Given the description of an element on the screen output the (x, y) to click on. 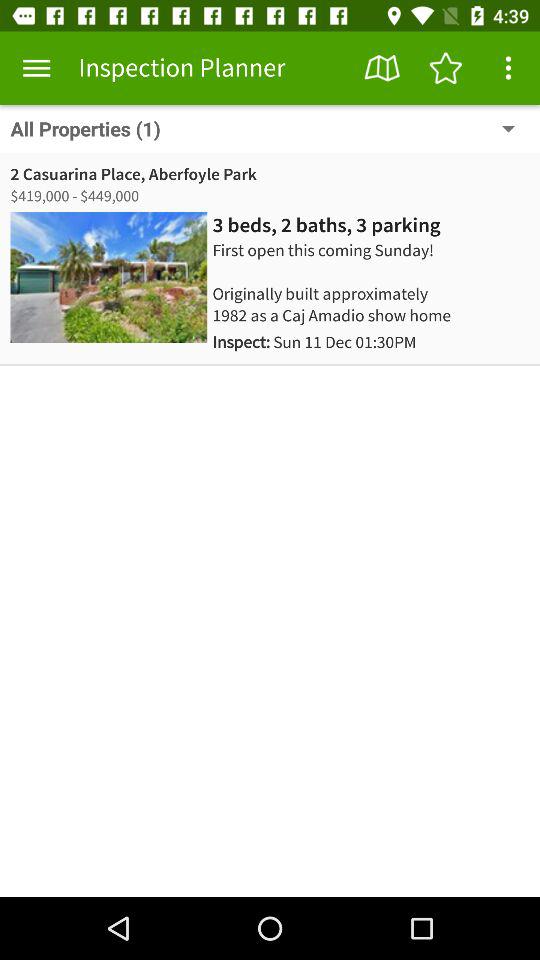
turn off item above the first open this icon (326, 225)
